Given the description of an element on the screen output the (x, y) to click on. 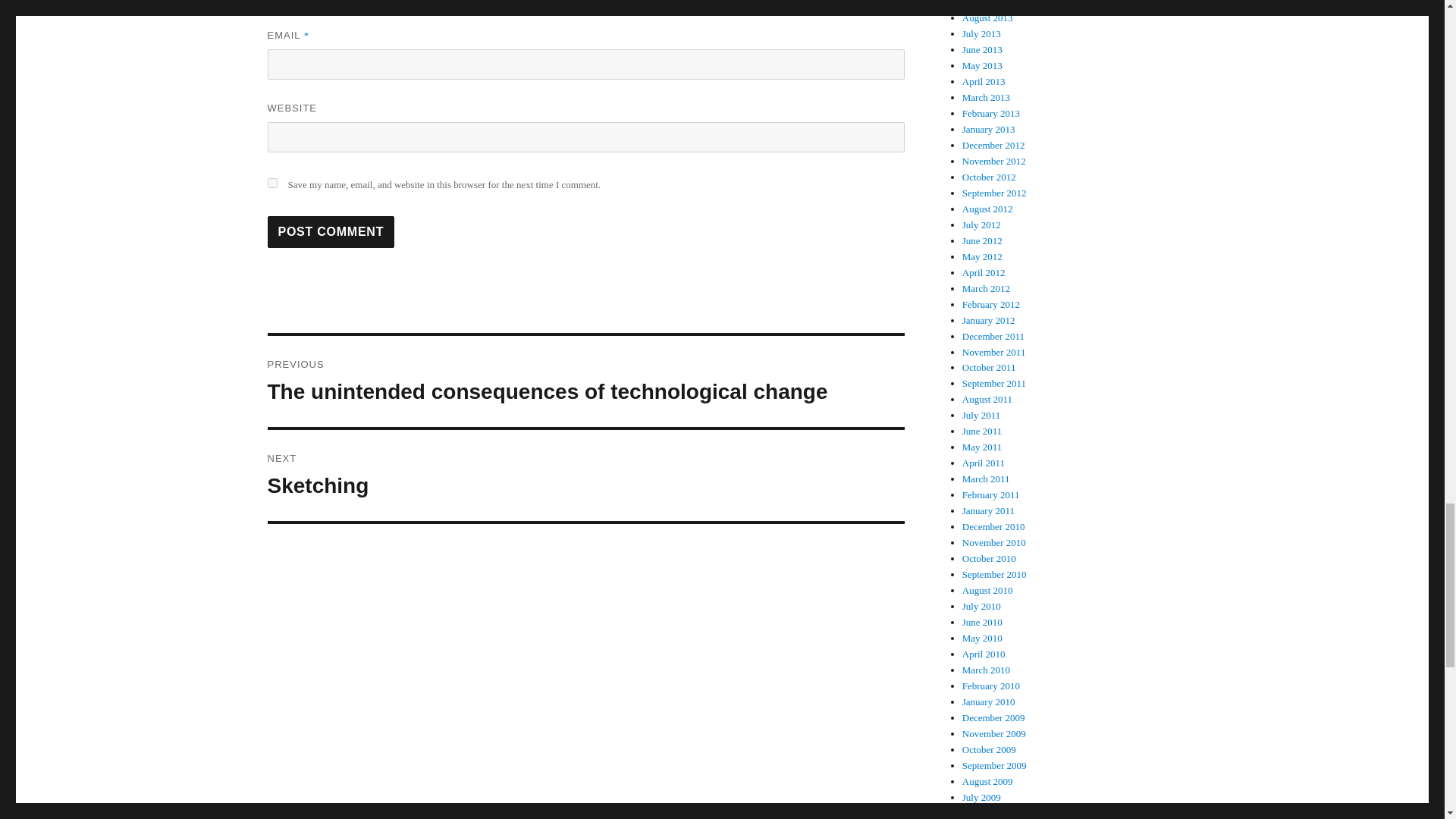
Post Comment (330, 232)
yes (271, 183)
Post Comment (330, 232)
